Given the description of an element on the screen output the (x, y) to click on. 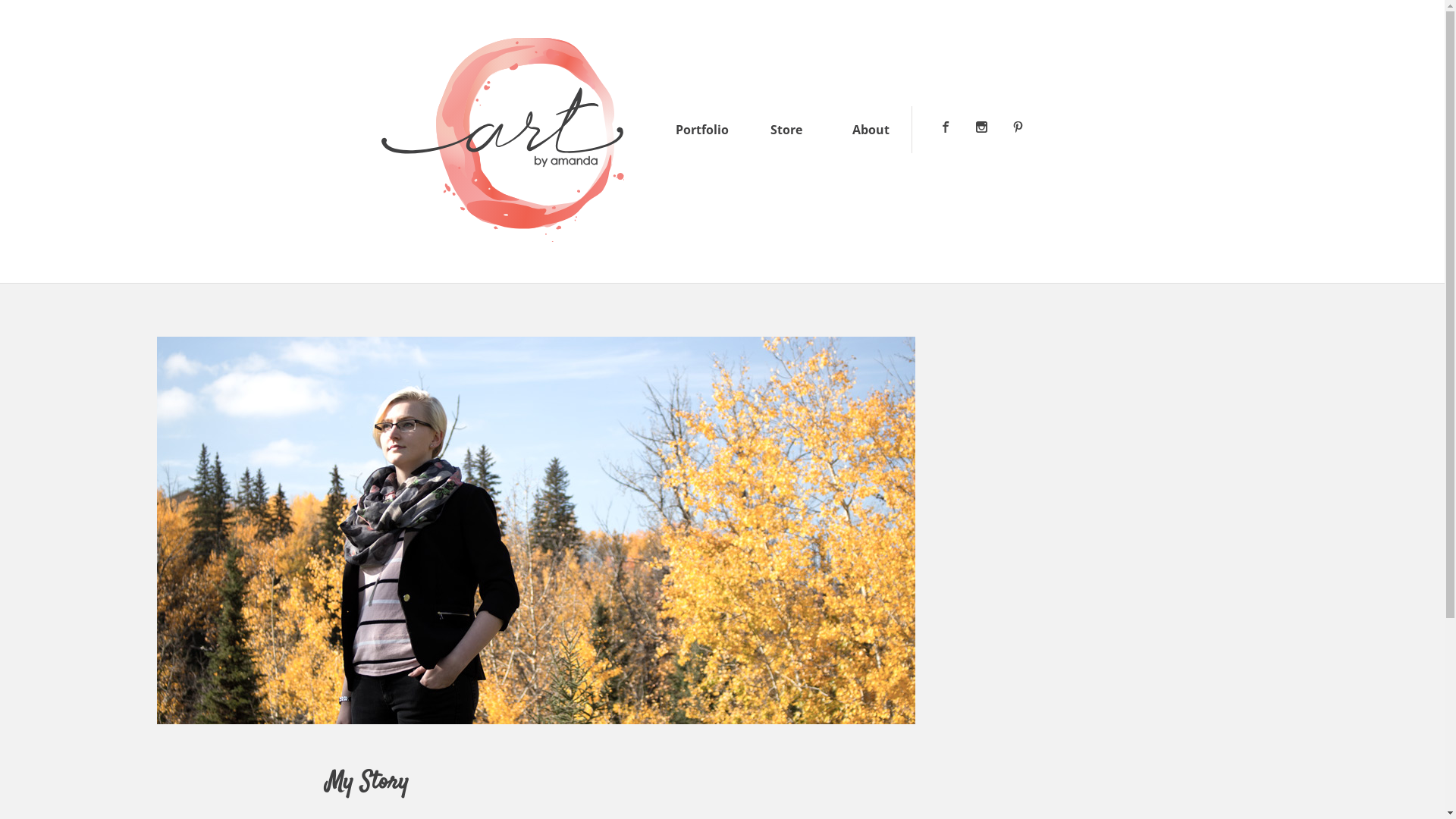
About Element type: text (870, 129)
Portfolio Element type: text (701, 129)
Store Element type: text (786, 129)
